Given the description of an element on the screen output the (x, y) to click on. 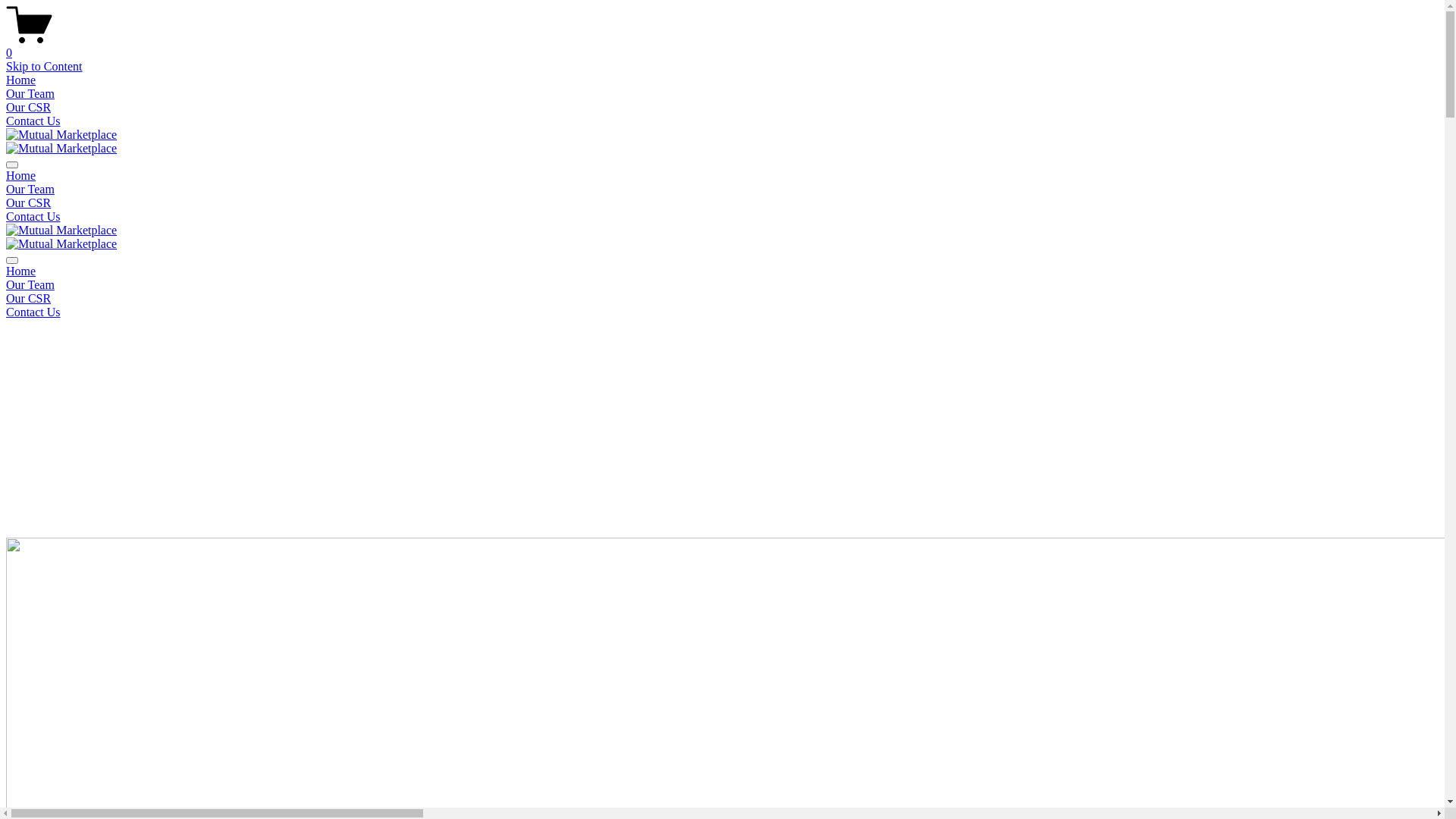
0 Element type: text (722, 45)
Our Team Element type: text (30, 93)
Our CSR Element type: text (28, 106)
Home Element type: text (722, 271)
Home Element type: text (20, 79)
Our CSR Element type: text (722, 298)
Contact Us Element type: text (33, 120)
Our Team Element type: text (30, 188)
Our Team Element type: text (722, 284)
Home Element type: text (20, 175)
Skip to Content Element type: text (43, 65)
Our CSR Element type: text (28, 202)
Contact Us Element type: text (33, 216)
Contact Us Element type: text (722, 312)
